Given the description of an element on the screen output the (x, y) to click on. 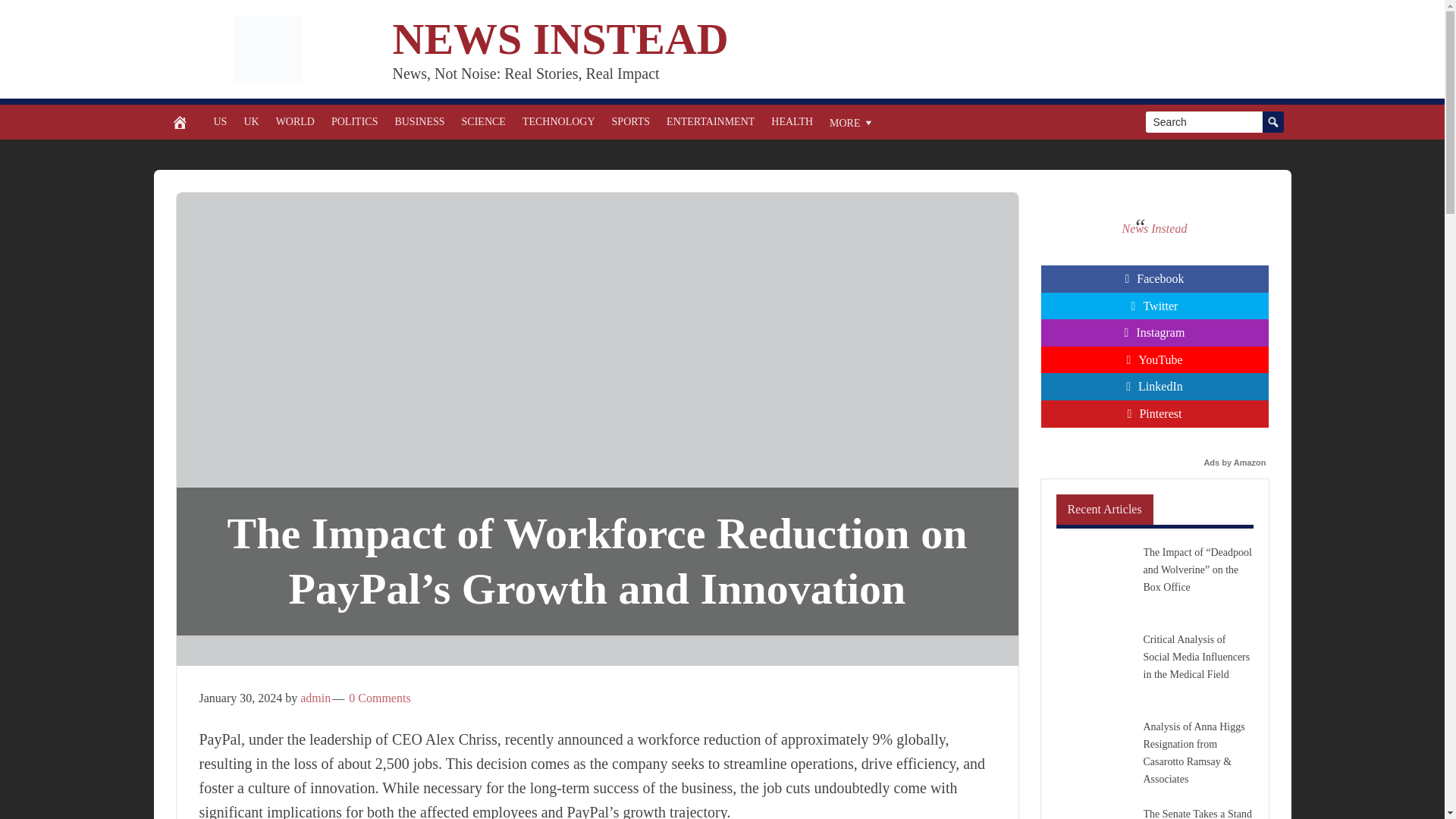
ENTERTAINMENT (710, 121)
MORE (851, 121)
BUSINESS (418, 121)
SCIENCE (482, 121)
US (219, 121)
TECHNOLOGY (558, 121)
SPORTS (631, 121)
HEALTH (791, 121)
NEWS INSTEAD (561, 38)
POLITICS (354, 121)
UK (250, 121)
WORLD (295, 121)
